Given the description of an element on the screen output the (x, y) to click on. 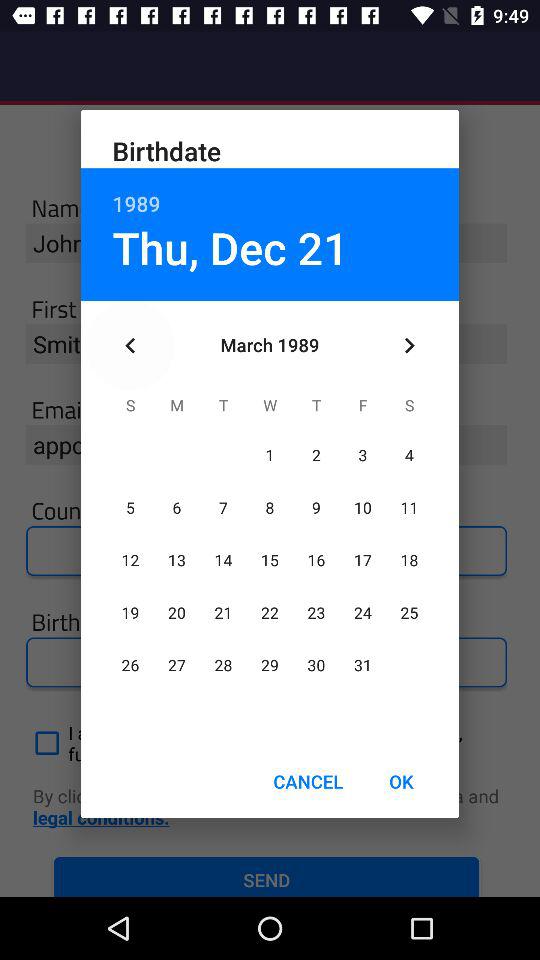
turn off icon above thu, dec 21 (269, 192)
